Given the description of an element on the screen output the (x, y) to click on. 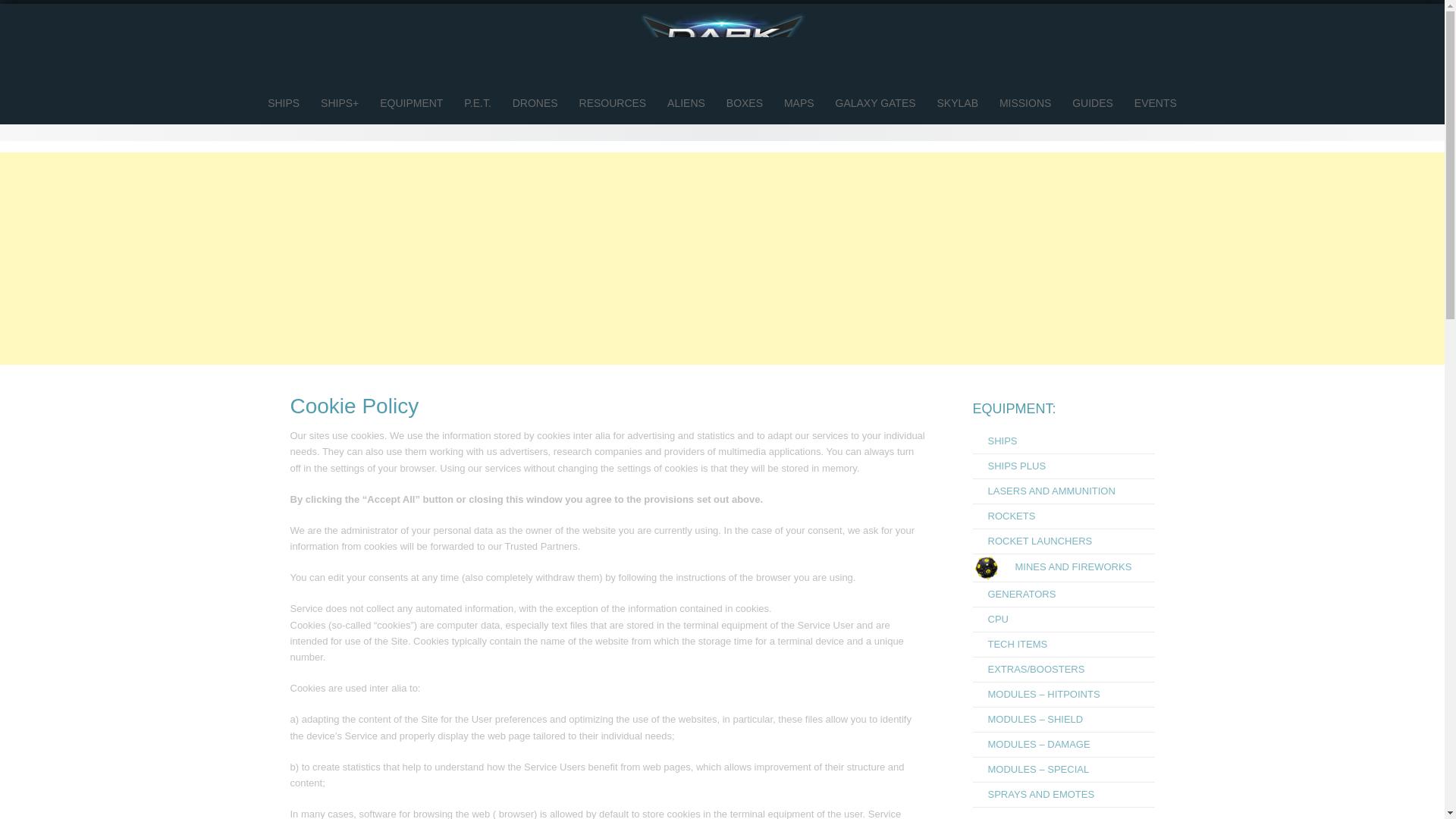
SHIPS (283, 102)
MISSIONS (1024, 102)
EQUIPMENT (411, 102)
LASERS AND AMMUNITION (1043, 490)
CPU (989, 618)
SHIPS PLUS (1008, 465)
GENERATORS (1013, 593)
ROCKET LAUNCHERS (1032, 541)
SHIPS (994, 440)
BOXES (744, 102)
GUIDES (1092, 102)
ROCKETS (1003, 515)
SKYLAB (957, 102)
ALIENS (686, 102)
DRONES (535, 102)
